Given the description of an element on the screen output the (x, y) to click on. 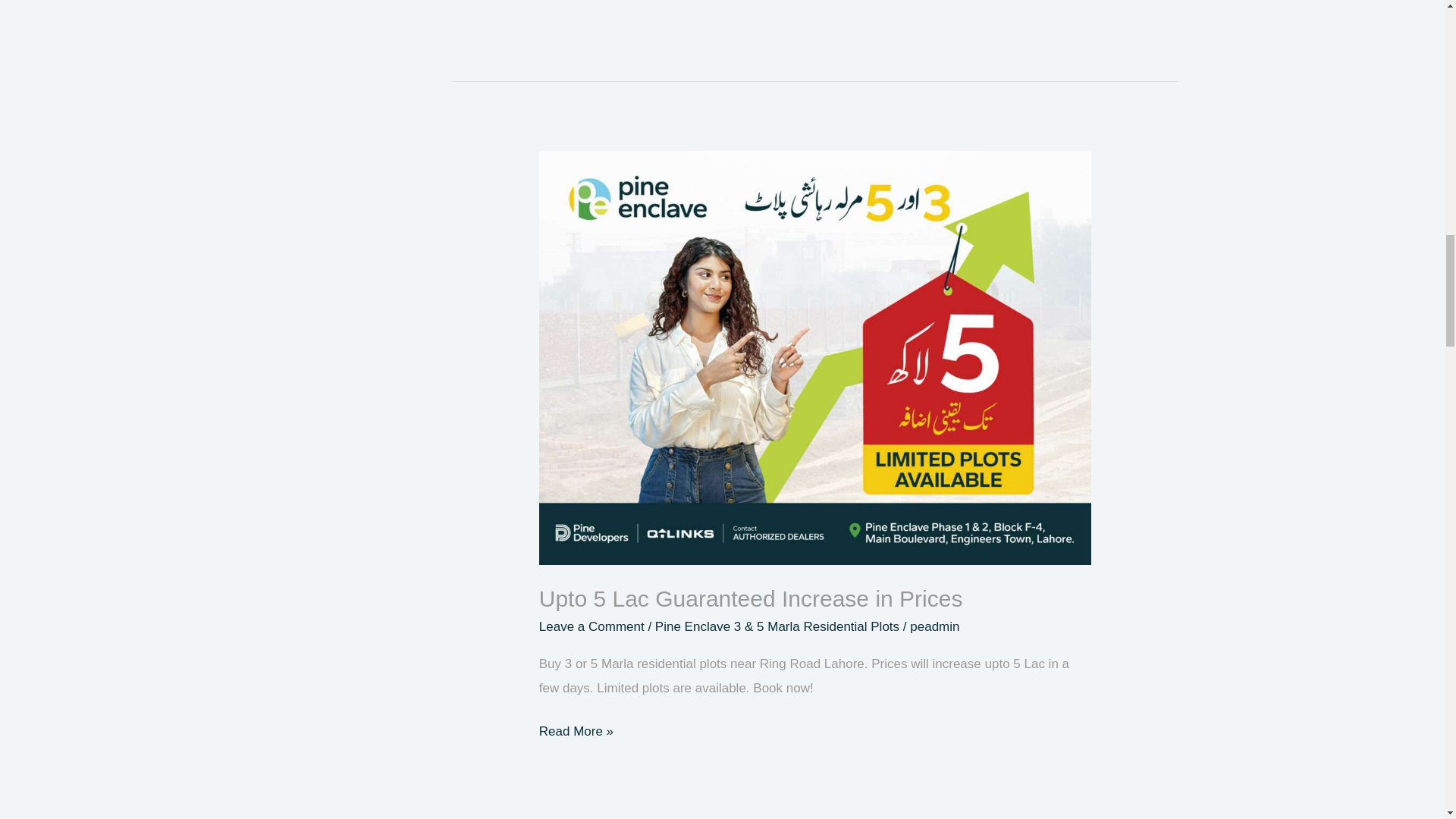
View all posts by peadmin (934, 626)
